Given the description of an element on the screen output the (x, y) to click on. 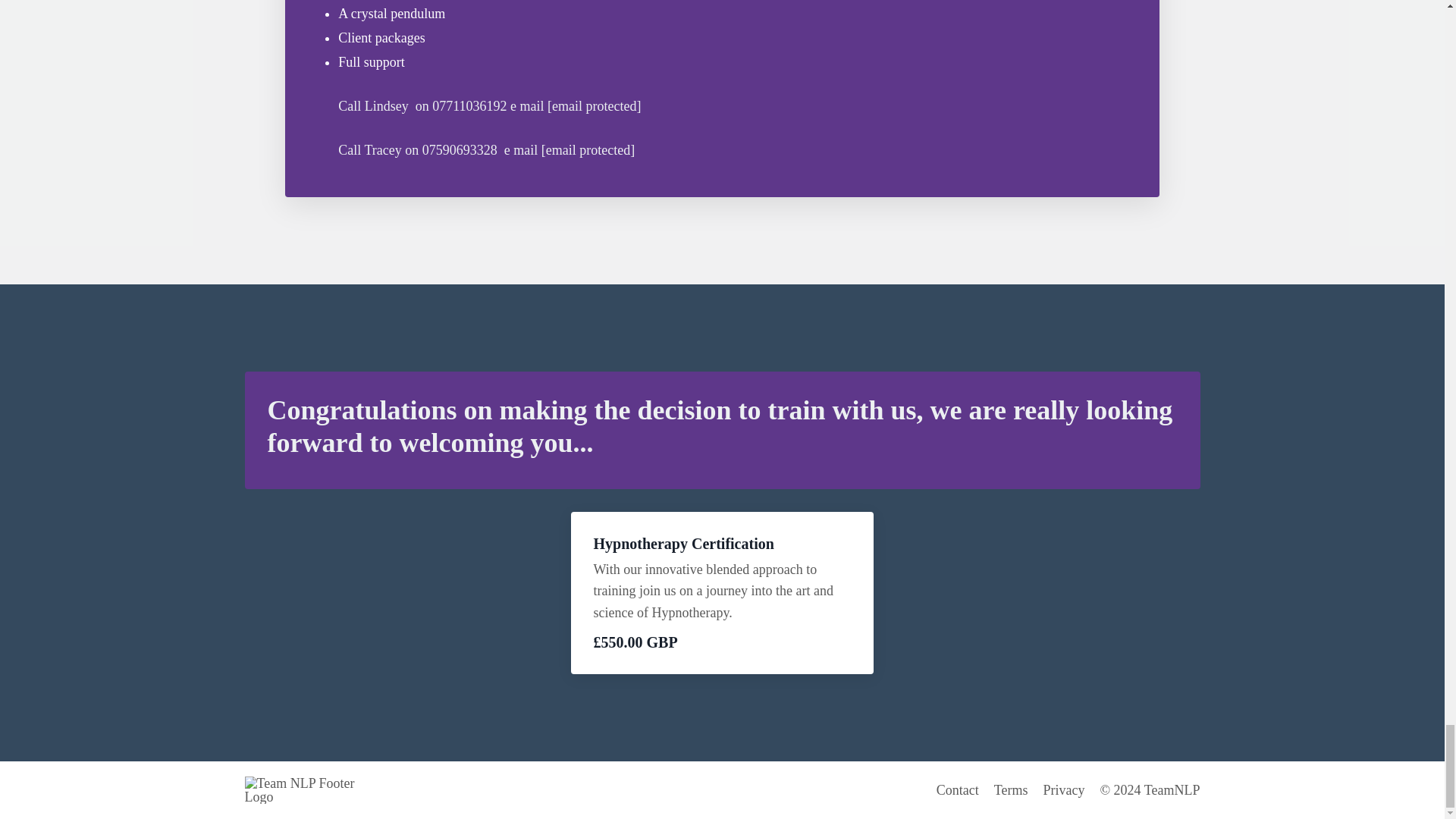
Privacy (1063, 790)
Contact (957, 790)
Terms (1010, 790)
